Given the description of an element on the screen output the (x, y) to click on. 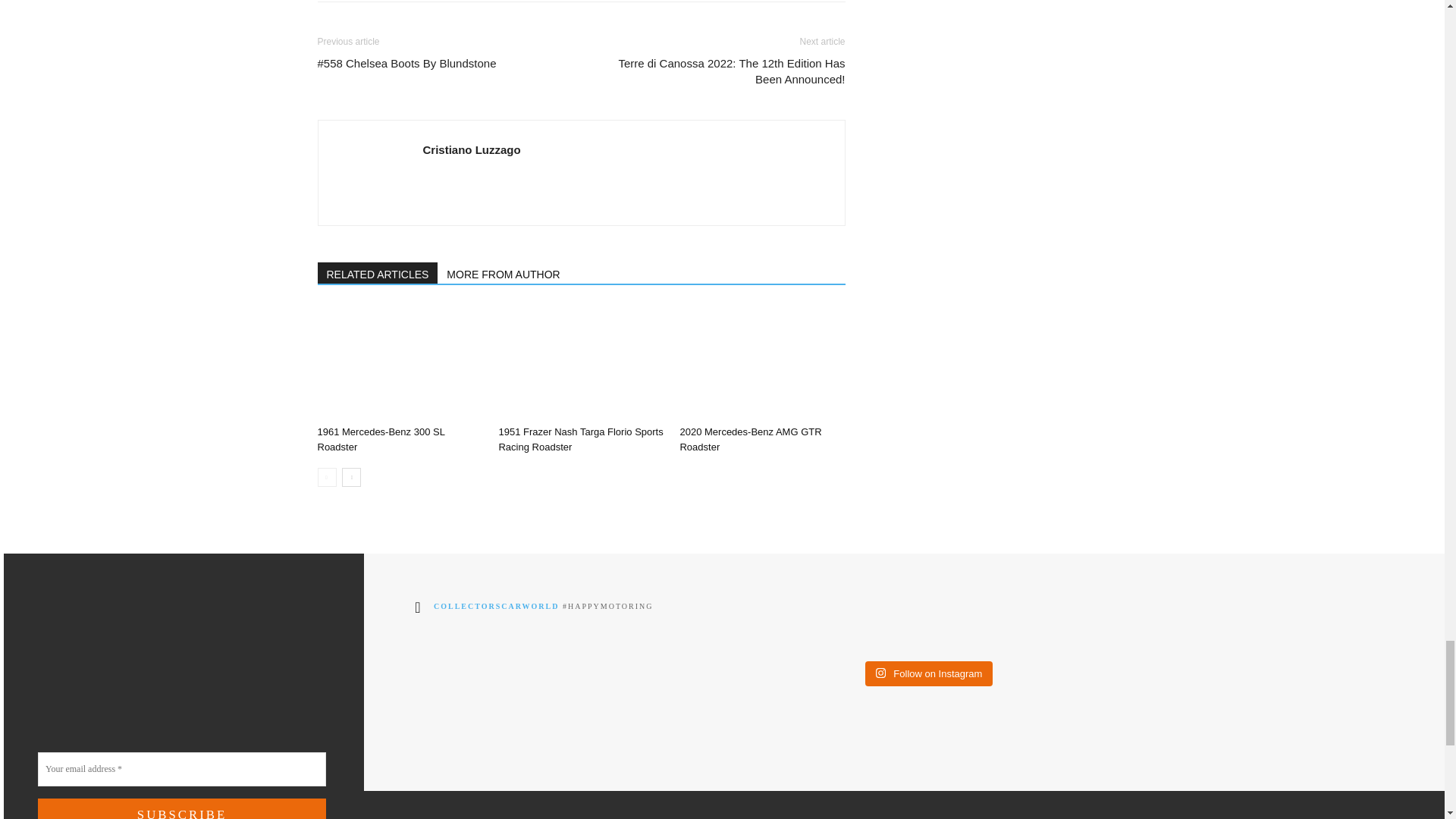
SUBSCRIBE (181, 808)
